Given the description of an element on the screen output the (x, y) to click on. 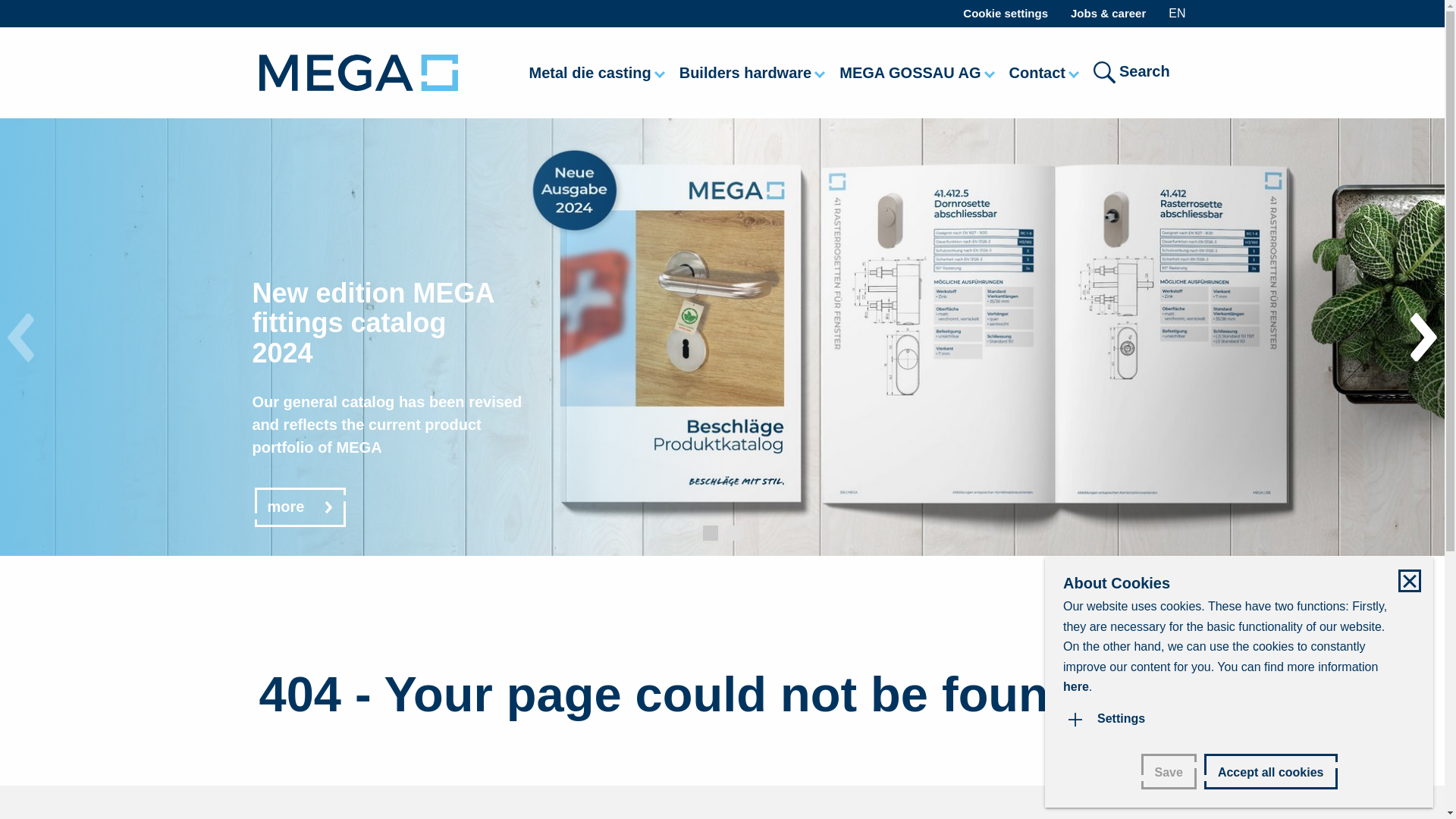
Metal die casting (597, 72)
Builders hardware (753, 72)
Builders hardware (753, 72)
Metal die casting (597, 72)
Search (1139, 79)
MEGA GOSSAU AG (917, 72)
MEGA GOSSAU AG (917, 72)
